Given the description of an element on the screen output the (x, y) to click on. 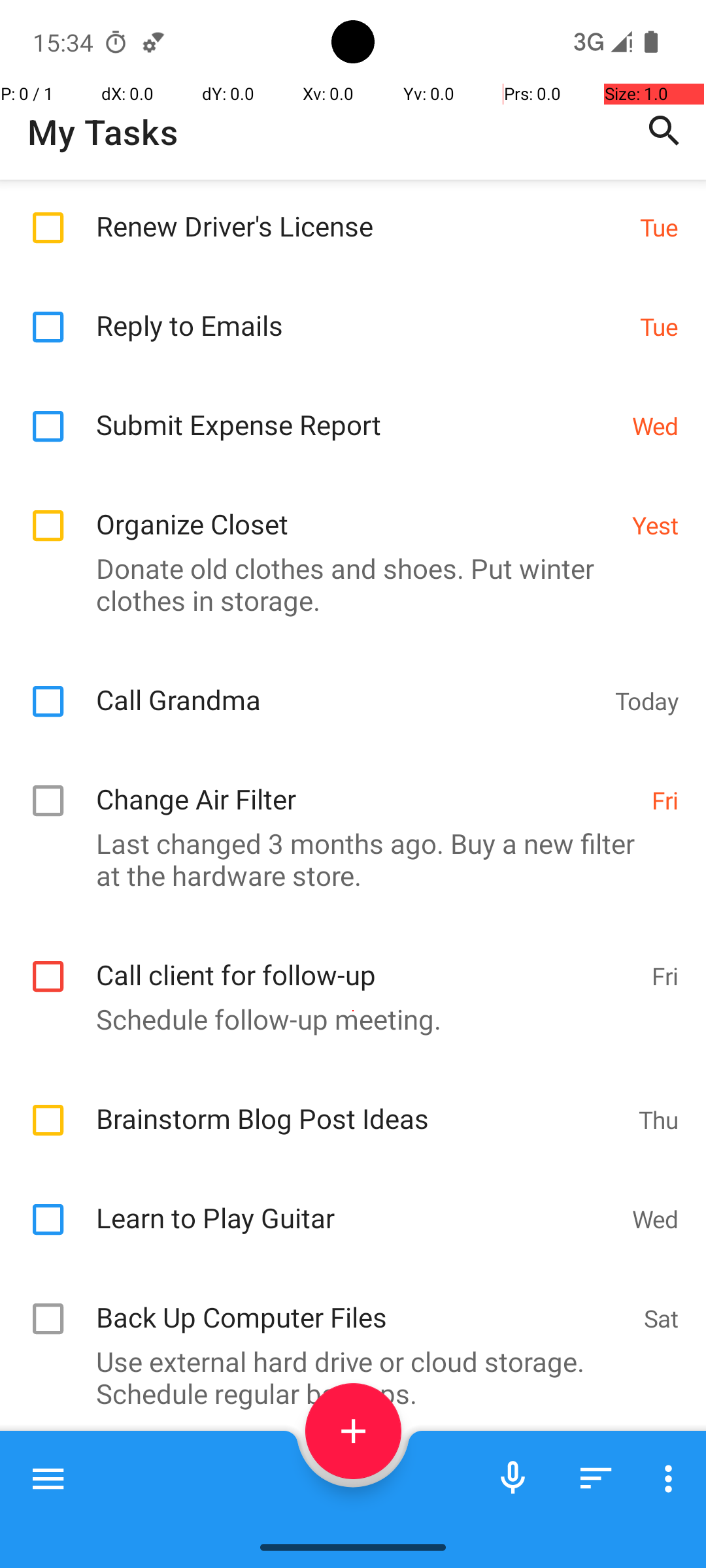
Call client for follow-up Element type: android.widget.TextView (367, 960)
Schedule follow-up meeting. Element type: android.widget.TextView (346, 1018)
